Given the description of an element on the screen output the (x, y) to click on. 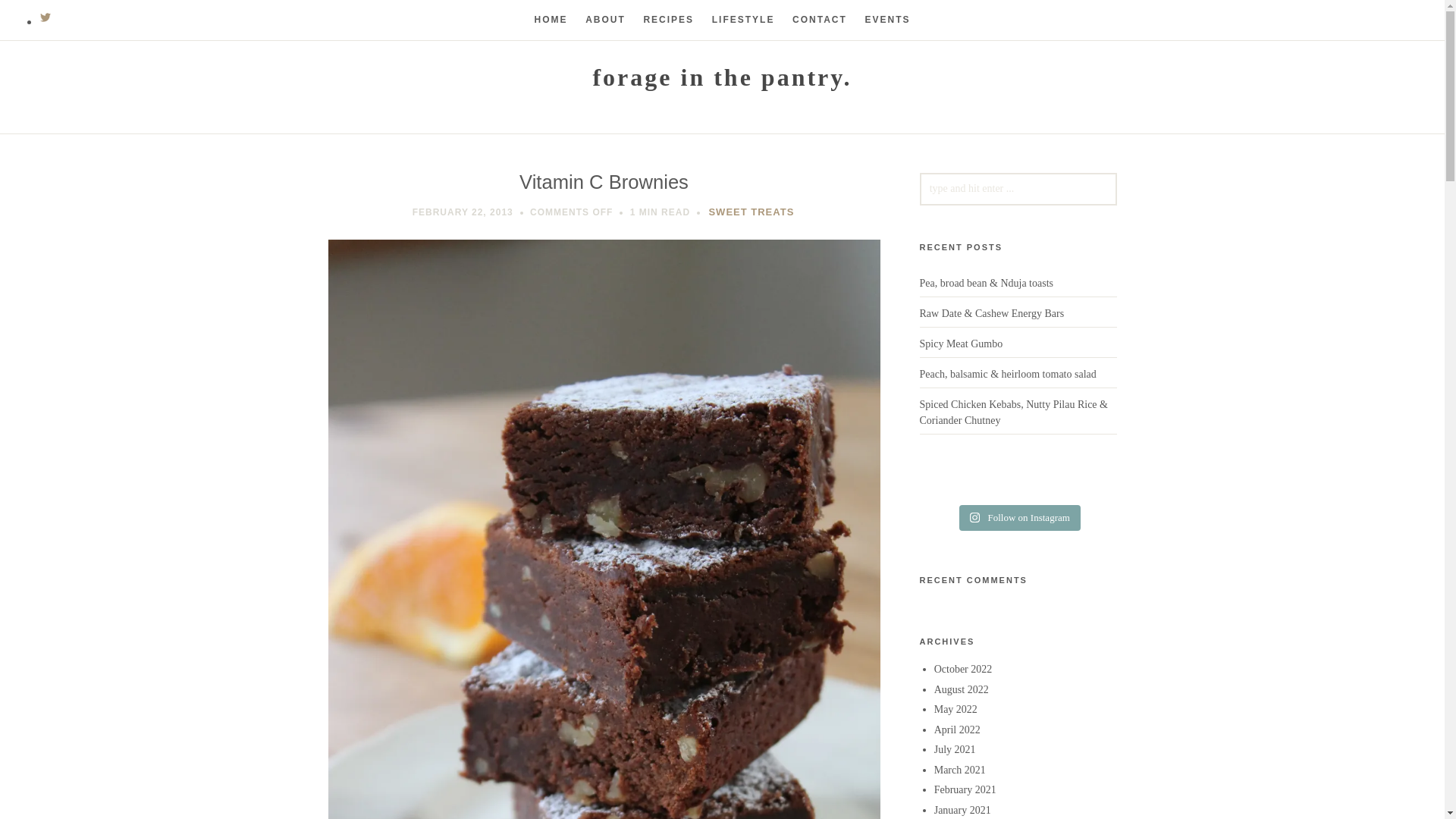
CONTACT (819, 20)
July 2021 (954, 749)
SWEET TREATS (750, 211)
Search (39, 16)
April 2022 (956, 729)
March 2021 (959, 769)
LIFESTYLE (742, 20)
EVENTS (887, 20)
May 2022 (955, 708)
Follow on Instagram (1019, 517)
August 2022 (961, 689)
forage in the pantry. (721, 76)
October 2022 (963, 668)
Spicy Meat Gumbo (960, 343)
ABOUT (605, 20)
